Given the description of an element on the screen output the (x, y) to click on. 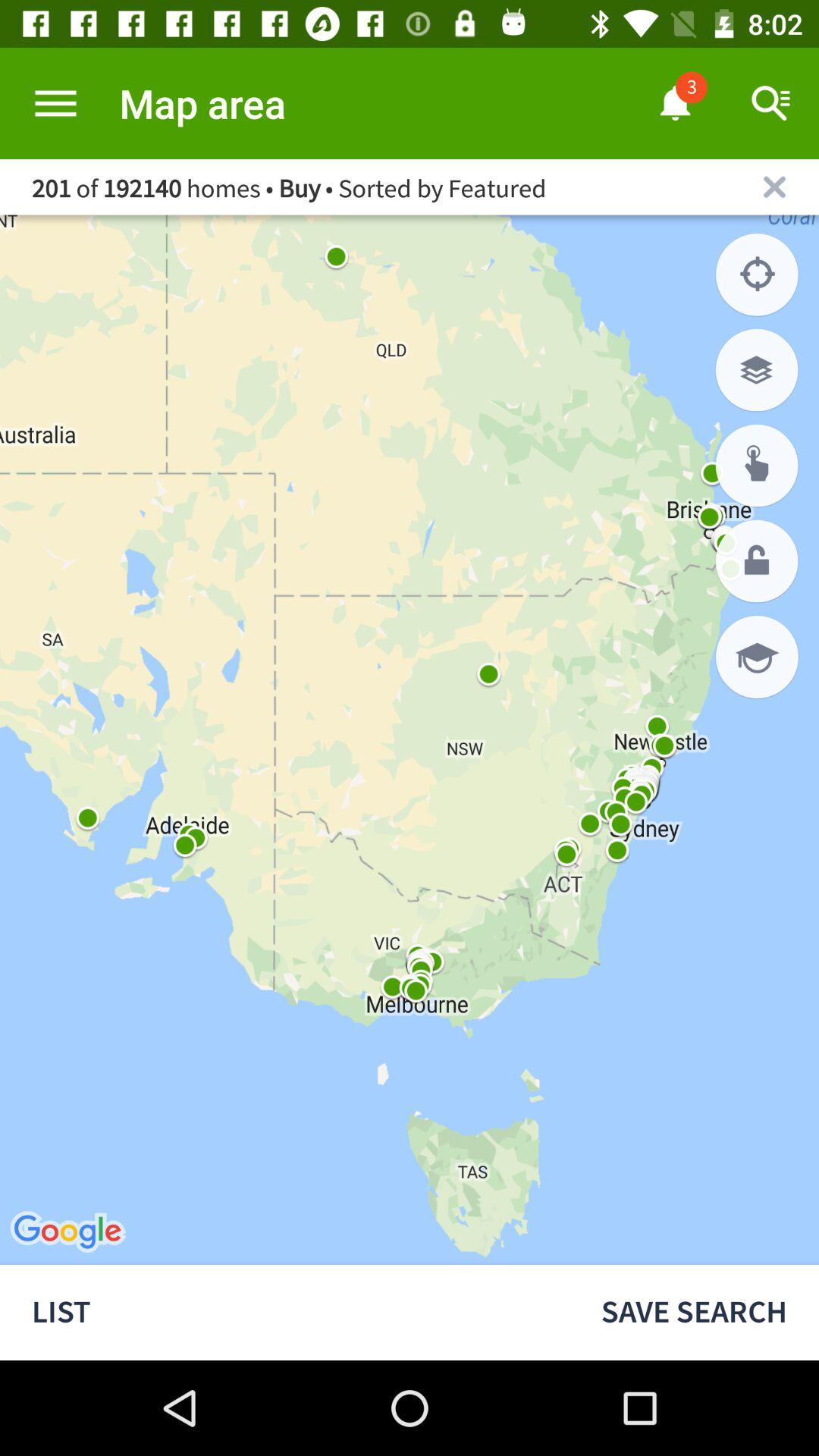
turn off the icon to the right of list icon (694, 1312)
